Given the description of an element on the screen output the (x, y) to click on. 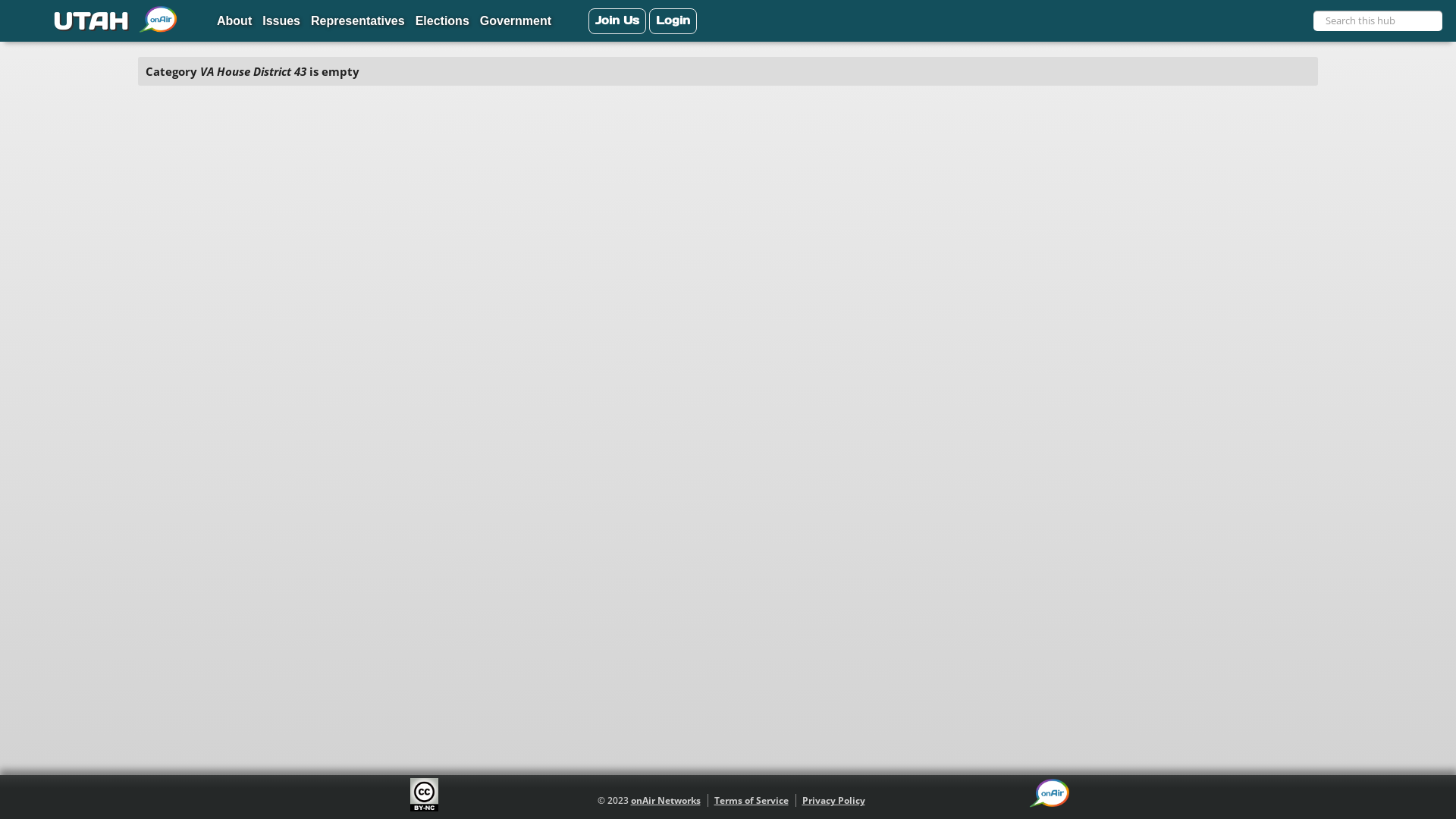
Login Element type: text (672, 21)
onAir Networks Element type: text (665, 799)
Issues Element type: text (280, 21)
onAIR Icon [external resource] Element type: hover (1050, 793)
UTAH Element type: text (87, 20)
Site Map Element type: hover (24, 20)
Elections Element type: text (442, 21)
Terms of Service Element type: text (751, 799)
Search Element type: text (1433, 23)
About Element type: text (234, 21)
Join Us Element type: text (617, 21)
Government Element type: text (515, 21)
Privacy Policy Element type: text (833, 799)
Representatives Element type: text (357, 21)
